Given the description of an element on the screen output the (x, y) to click on. 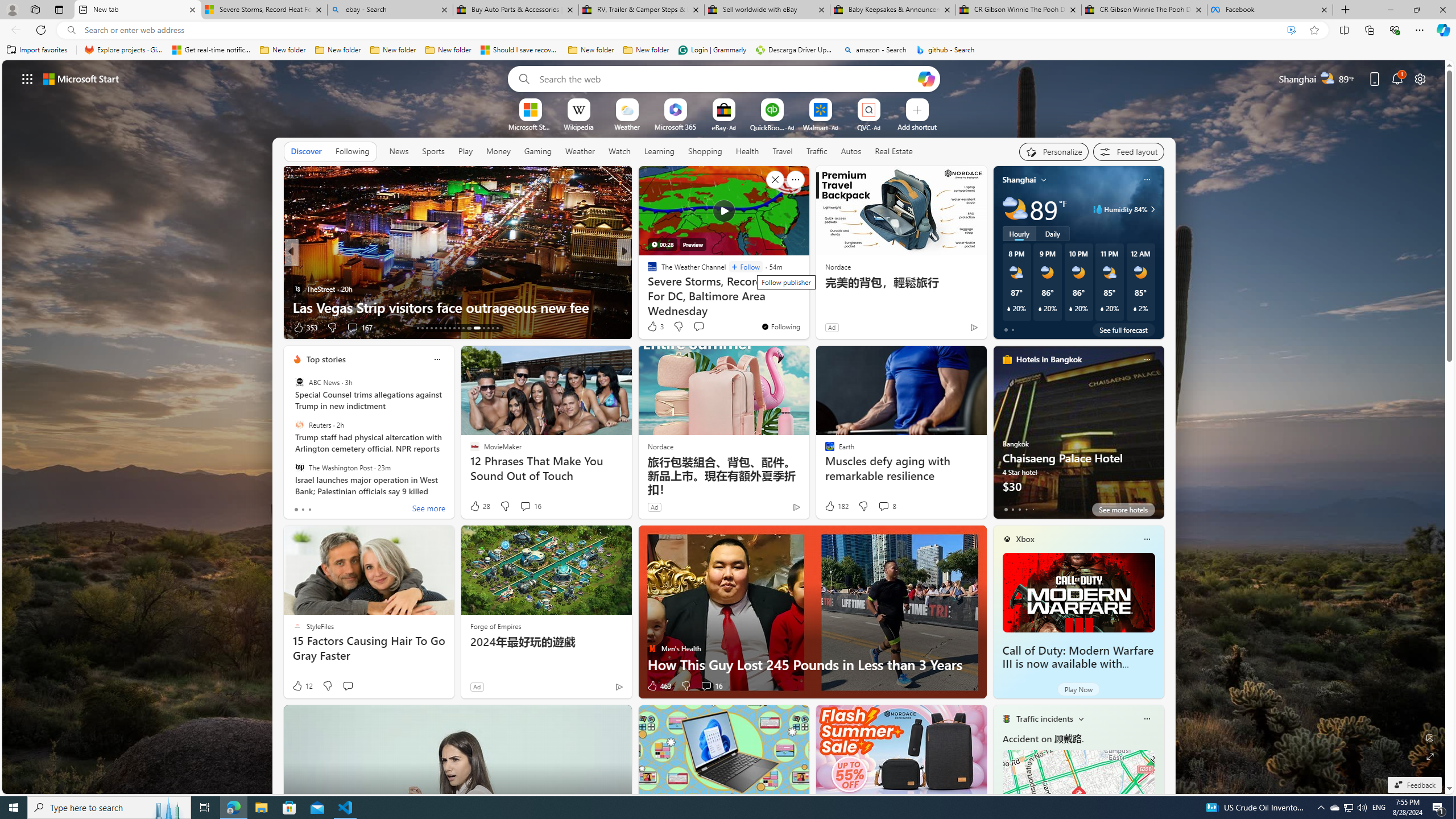
You're following The Weather Channel (780, 326)
Traffic incidents (1044, 718)
TheStreet (296, 288)
Chaisaeng Palace Hotel (1078, 436)
353 Like (304, 327)
Class: weather-arrow-glyph (1152, 208)
Daily (1052, 233)
AutomationID: tab-28 (492, 328)
Partly cloudy (1014, 208)
Start the conversation (347, 685)
Enter your search term (726, 78)
Personalize your feed" (1054, 151)
Gaming (537, 151)
